Given the description of an element on the screen output the (x, y) to click on. 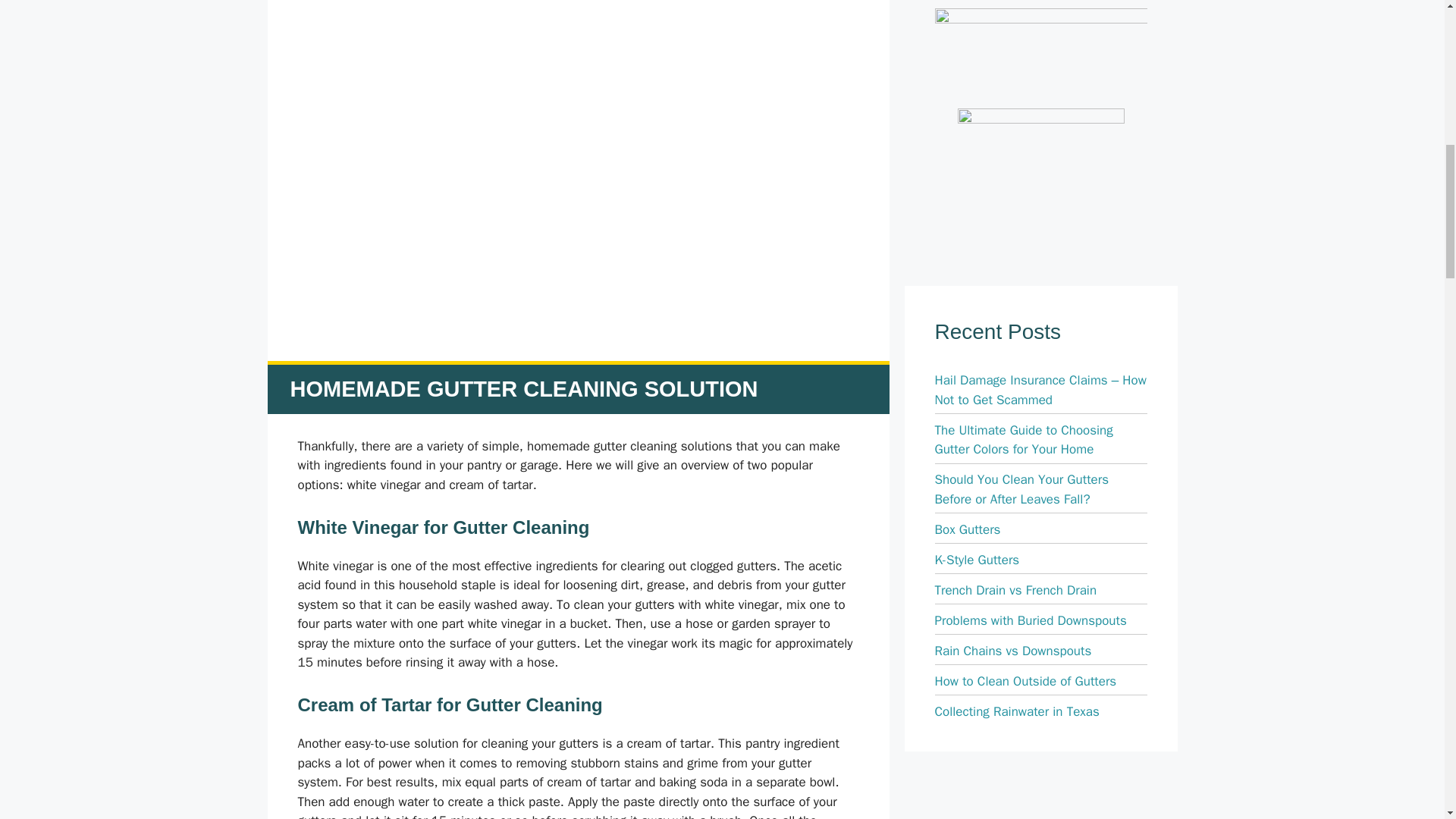
Box Gutters (967, 529)
Should You Clean Your Gutters Before or After Leaves Fall? (1021, 488)
K-Style Gutters (976, 560)
The Ultimate Guide to Choosing Gutter Colors for Your Home (1023, 439)
